Given the description of an element on the screen output the (x, y) to click on. 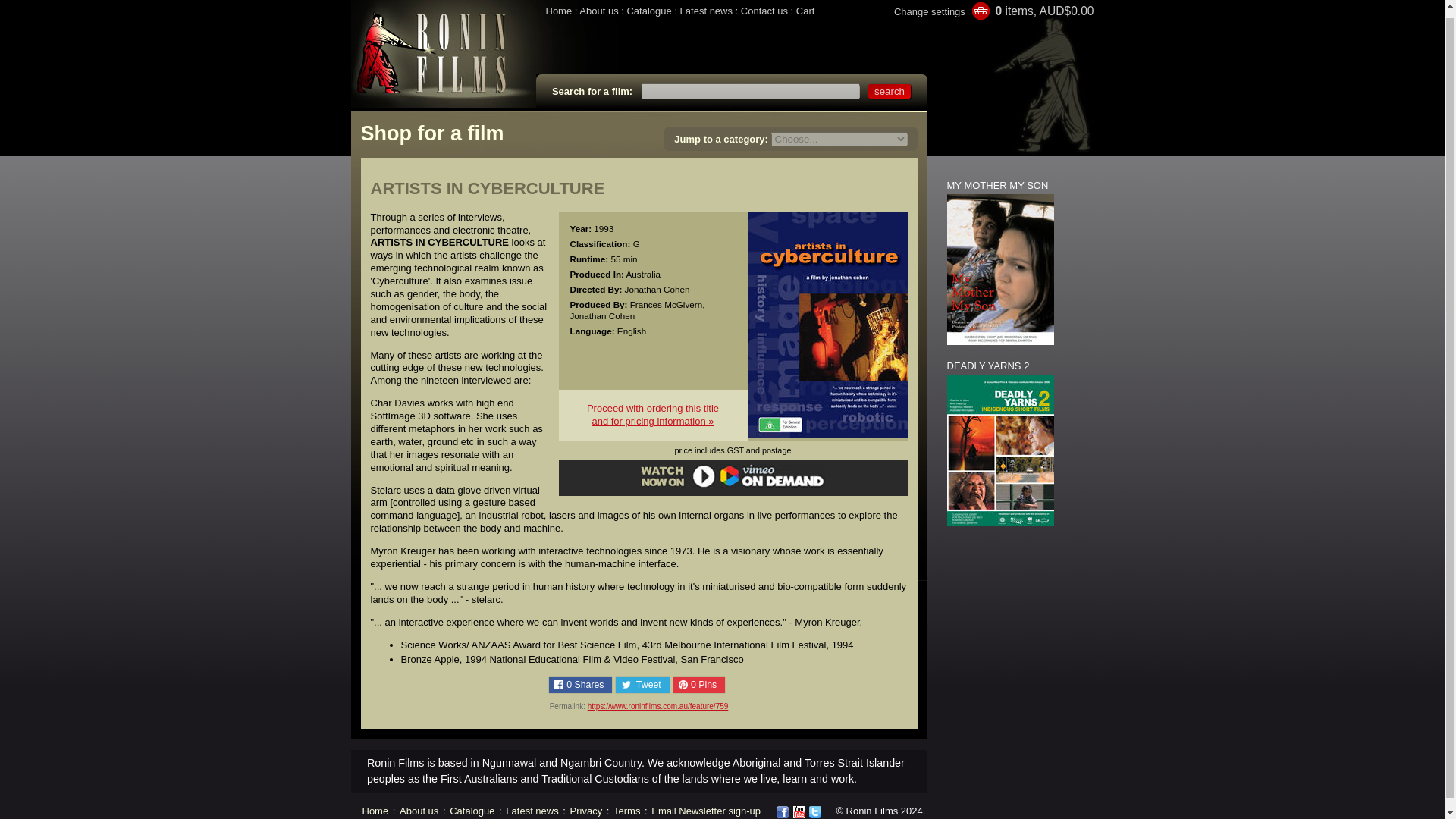
Share on Twitter (641, 684)
About us (418, 810)
Email Newsletter sign-up (705, 810)
Change your settings (652, 414)
About us (598, 10)
0 Shares (580, 684)
Share on Facebook (580, 684)
Catalogue (472, 810)
Pin on Pinterest (698, 684)
Latest news (531, 810)
Home (375, 810)
Catalogue (648, 10)
Terms (626, 810)
Latest news (705, 10)
 Tweet (641, 684)
